Given the description of an element on the screen output the (x, y) to click on. 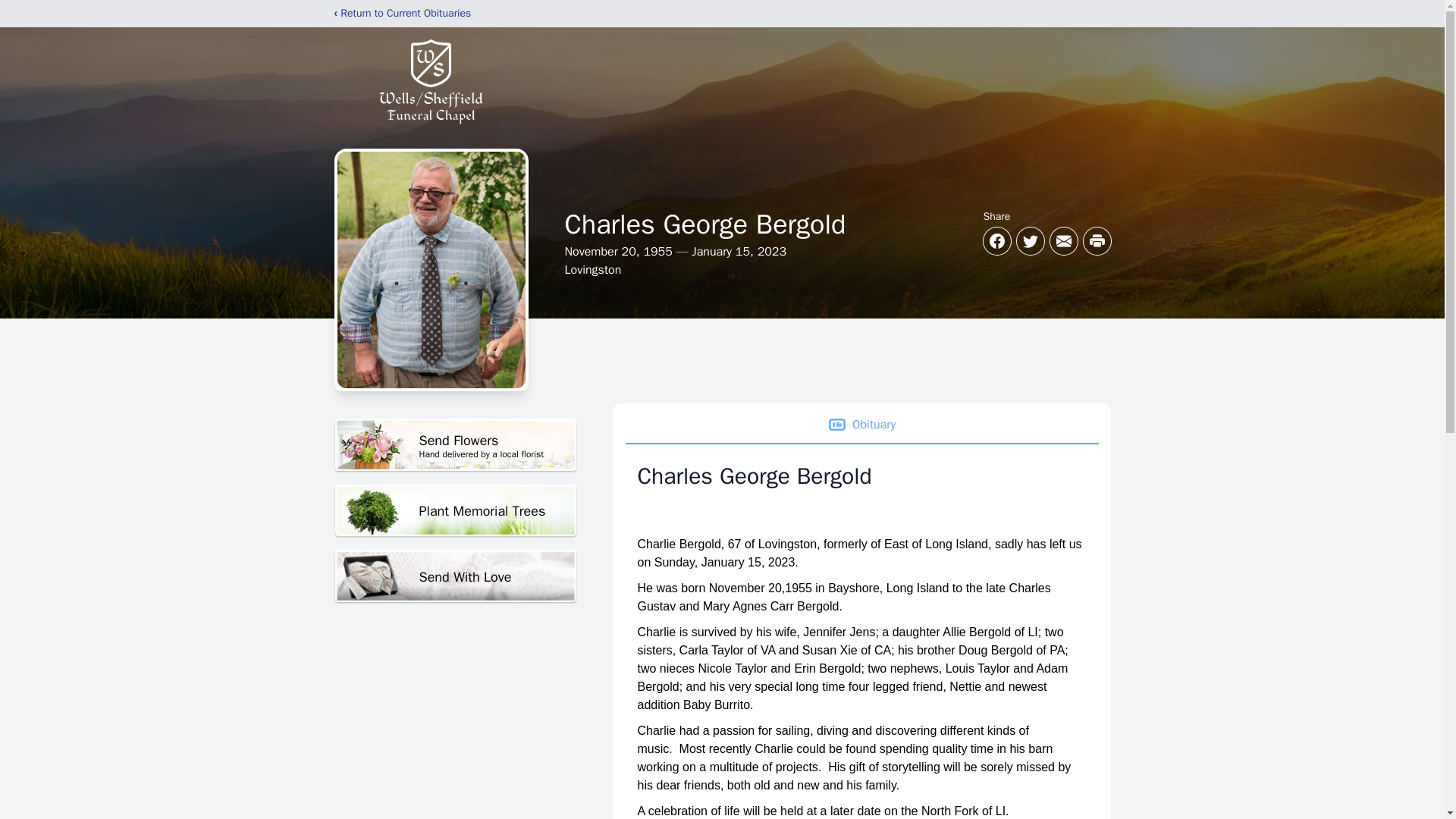
Plant Memorial Trees (454, 445)
Send With Love (454, 511)
Obituary (454, 576)
